Given the description of an element on the screen output the (x, y) to click on. 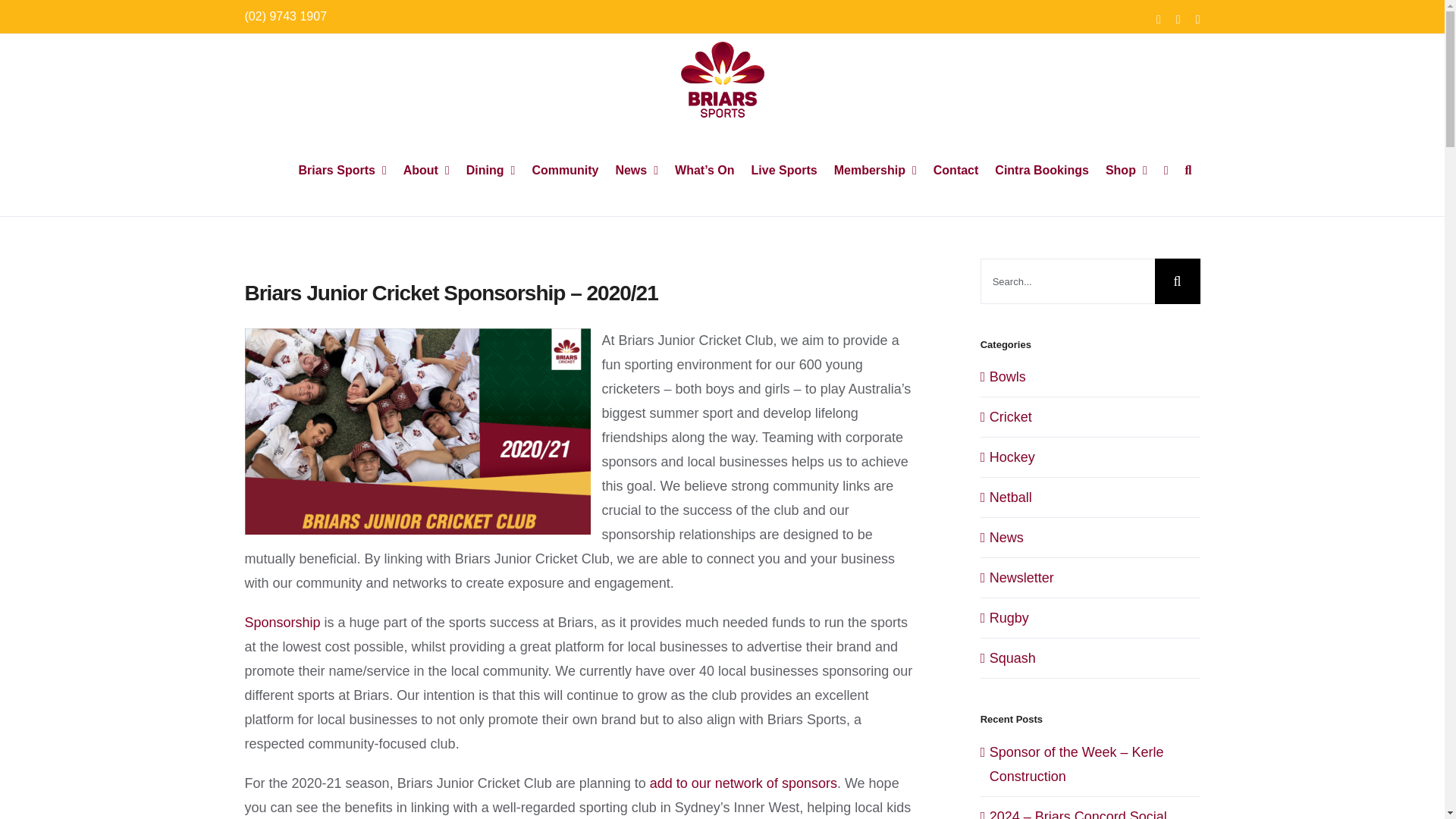
Briars Sports (341, 170)
Community (564, 170)
Live Sports (783, 170)
